Given the description of an element on the screen output the (x, y) to click on. 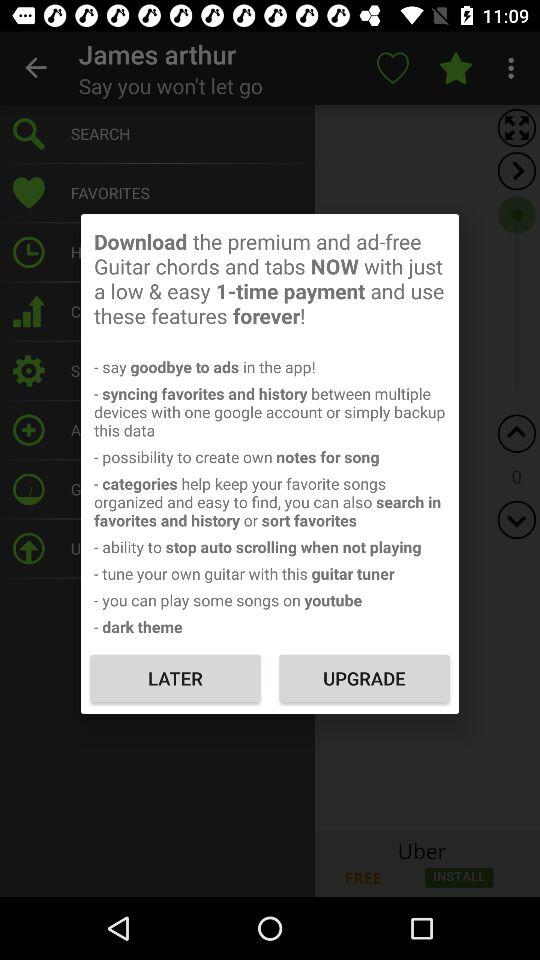
press icon below you can play item (364, 677)
